Given the description of an element on the screen output the (x, y) to click on. 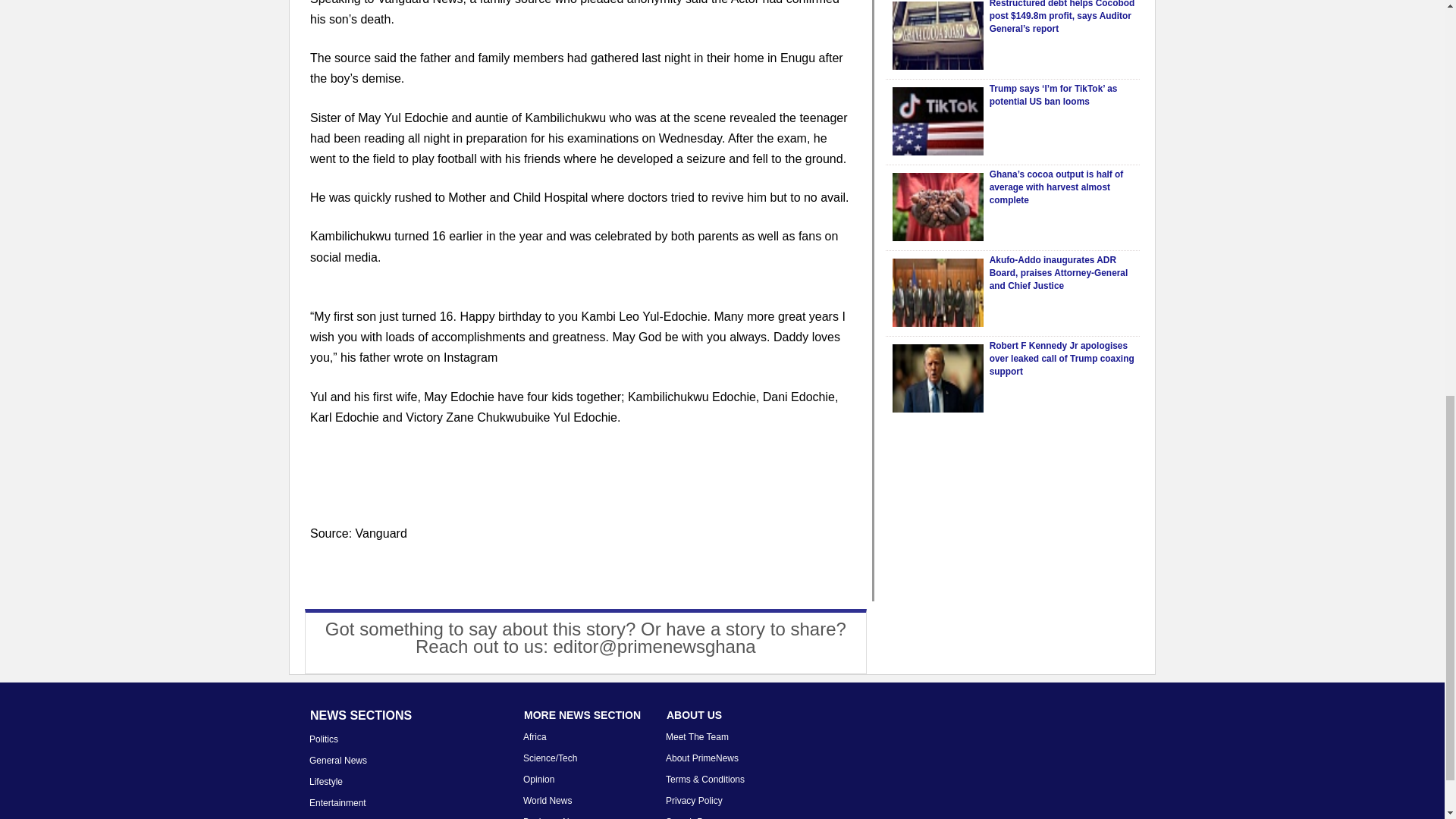
Politics (322, 738)
General News (337, 760)
